Given the description of an element on the screen output the (x, y) to click on. 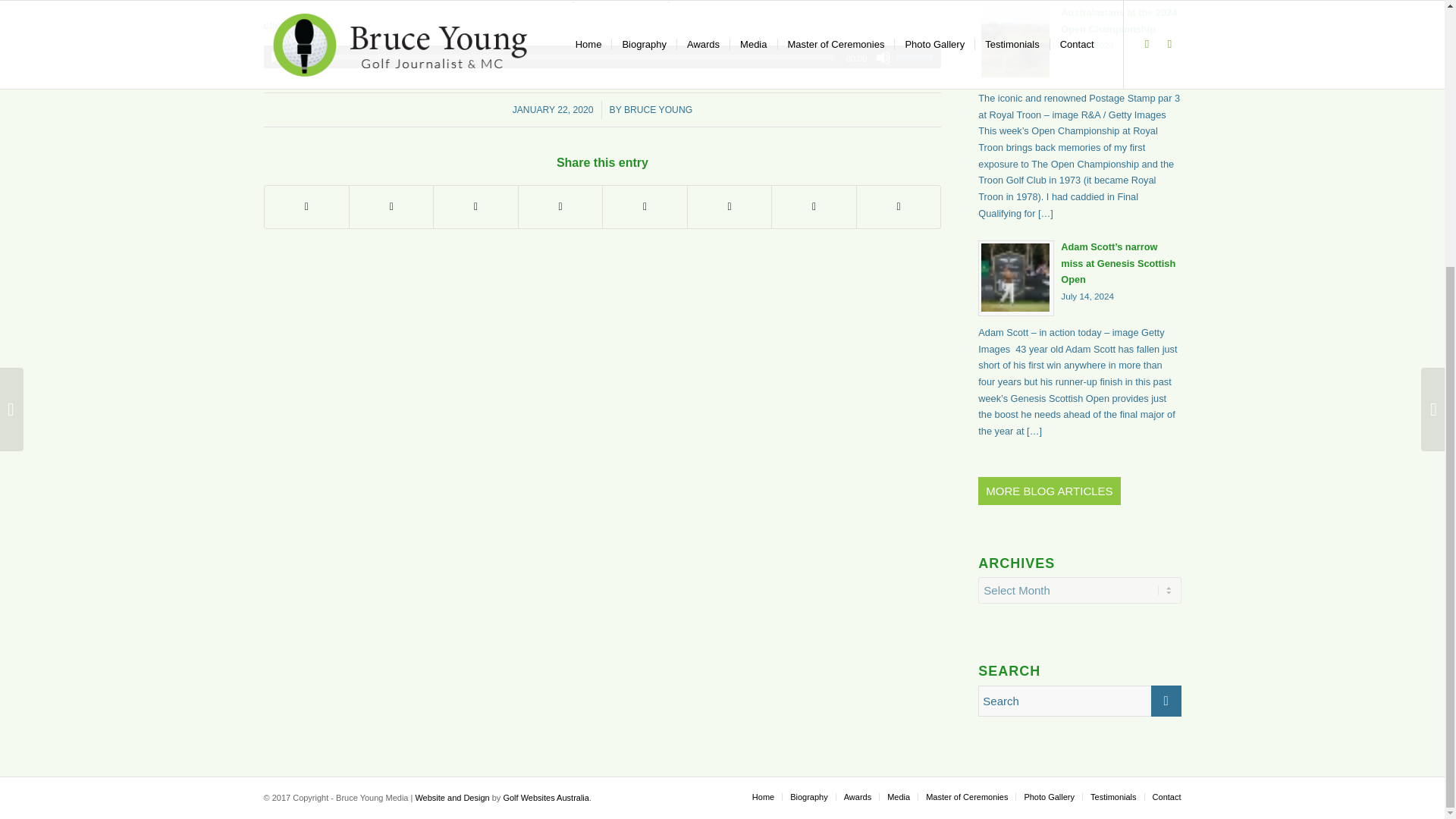
Play (275, 57)
Mute (883, 57)
MORE BLOG ARTICLES (1048, 490)
Posts by Bruce Young (658, 109)
BRUCE YOUNG (1079, 42)
